Given the description of an element on the screen output the (x, y) to click on. 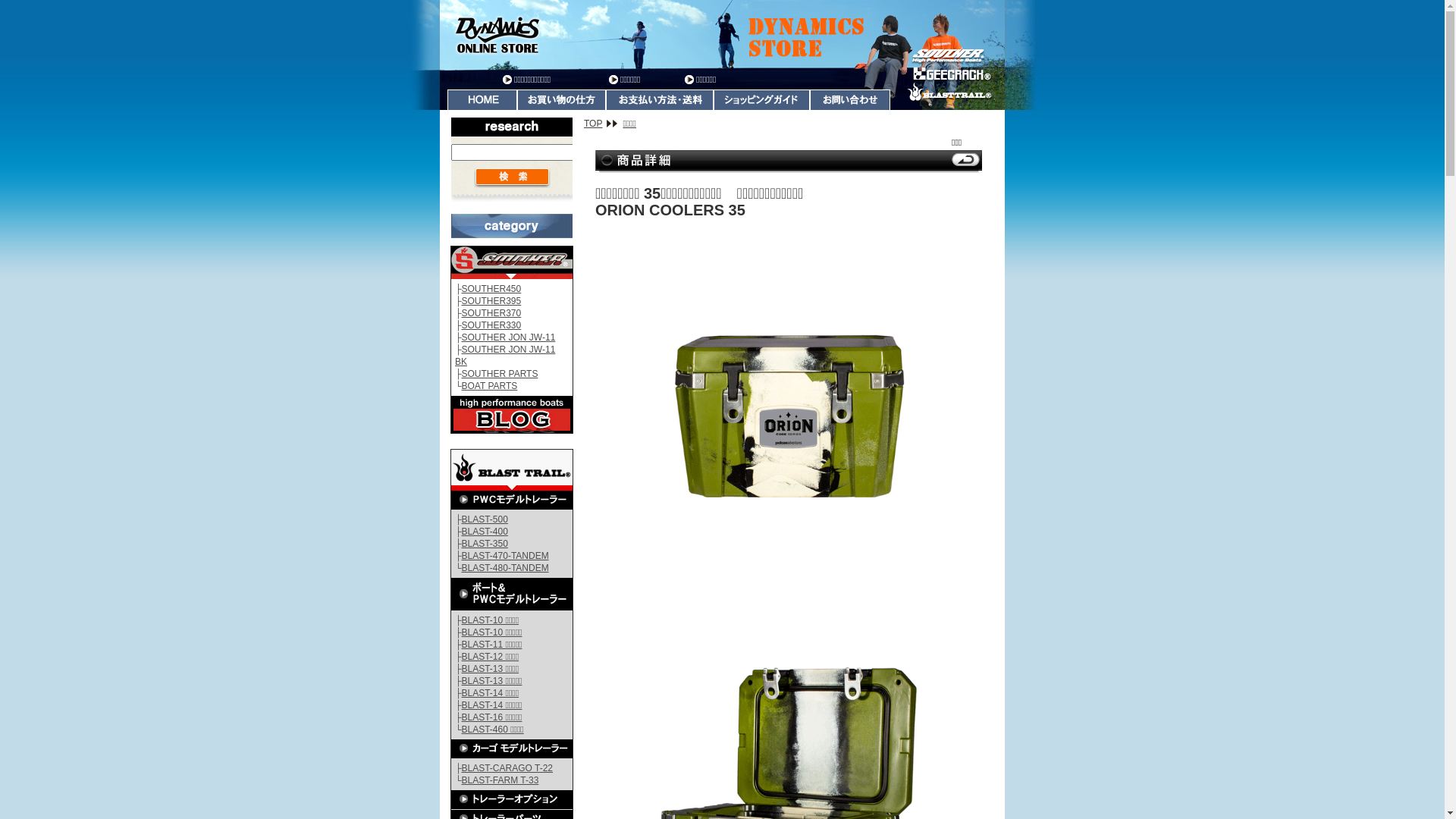
SOUTHER450 Element type: text (491, 288)
DYNAMICS STORE Element type: text (721, 34)
SOUTHER PARTS Element type: text (499, 373)
BLAST-CARAGO T-22 Element type: text (507, 767)
BLAST-470-TANDEM Element type: text (505, 555)
BLAST-400 Element type: text (484, 531)
BLAST-350 Element type: text (484, 543)
SOUTHER330 Element type: text (491, 325)
BLAST-FARM T-33 Element type: text (500, 780)
SOUTHER JON JW-11 Element type: text (508, 337)
TOP Element type: text (600, 123)
SOUTHER395 Element type: text (491, 300)
BLAST-500 Element type: text (484, 519)
SOUTHER JON JW-11 BK Element type: text (505, 355)
BLAST-480-TANDEM Element type: text (505, 567)
BOAT PARTS Element type: text (489, 385)
HOME Element type: text (482, 99)
SOUTHER370 Element type: text (491, 312)
